Given the description of an element on the screen output the (x, y) to click on. 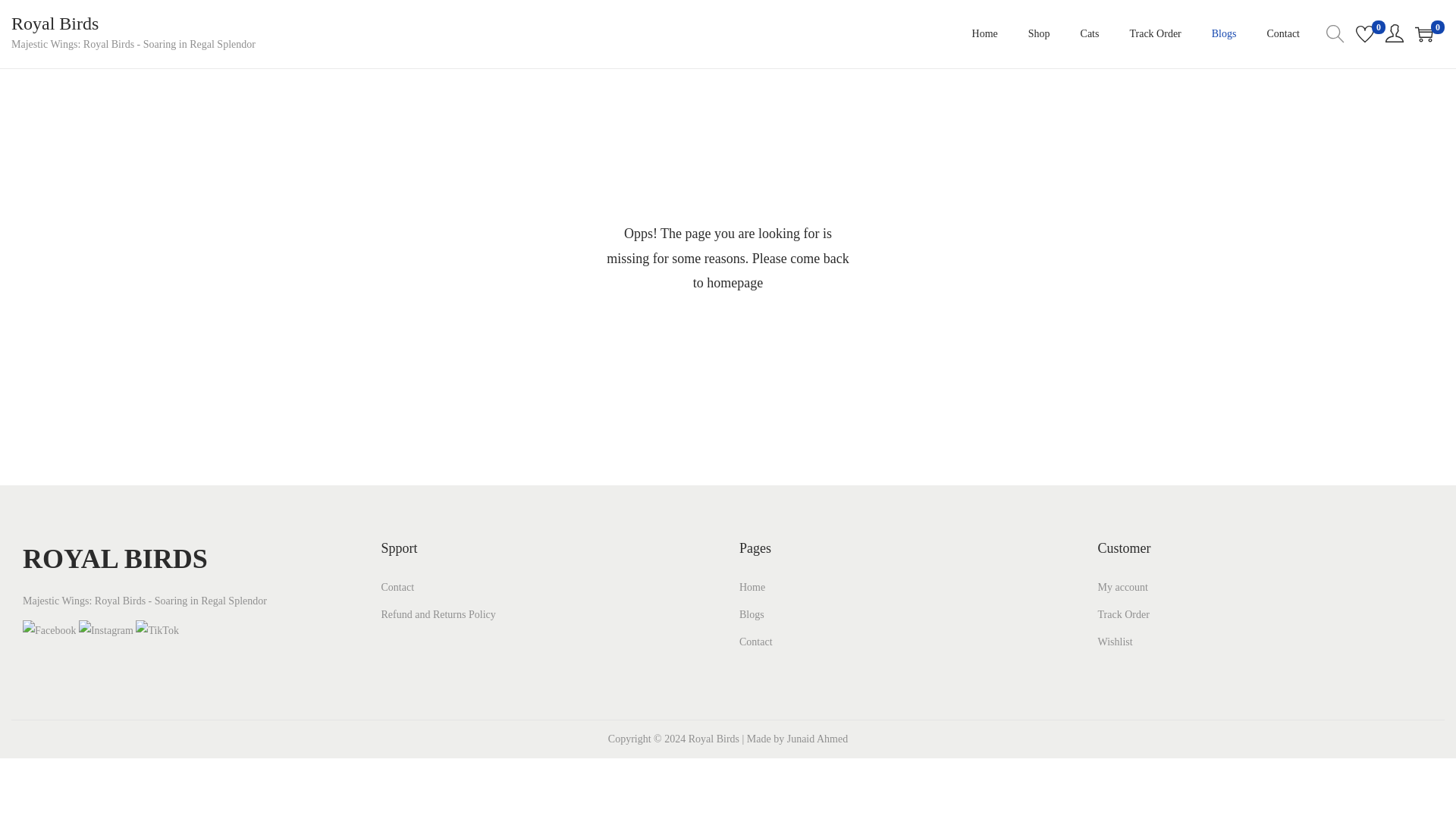
Royal Birds (55, 23)
Home (752, 586)
Contact (756, 641)
Track Order (1123, 614)
Wishlist (1114, 641)
Blogs (751, 614)
Refund and Returns Policy (437, 614)
My account (1122, 586)
Contact (396, 586)
